Given the description of an element on the screen output the (x, y) to click on. 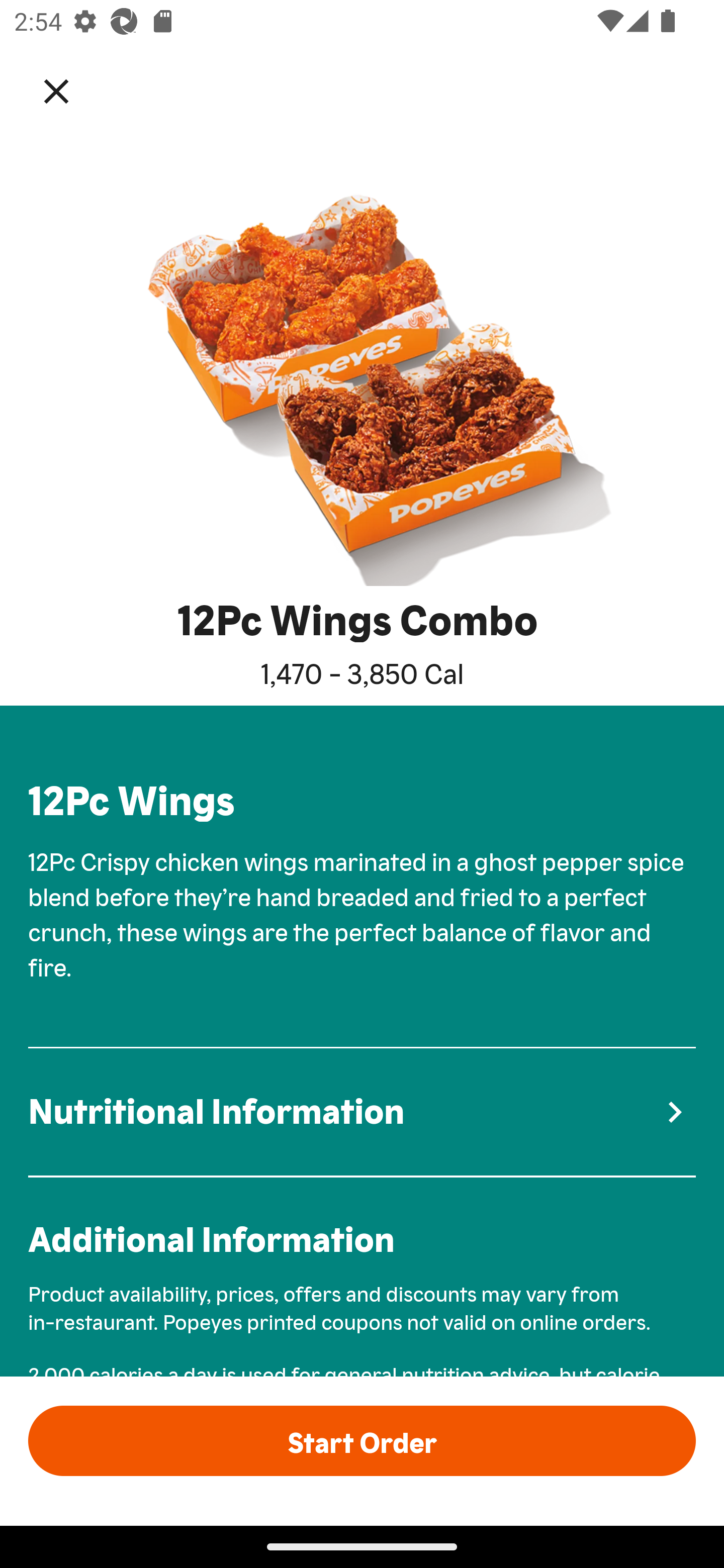
 (70, 90)
Start Order (361, 1439)
